Given the description of an element on the screen output the (x, y) to click on. 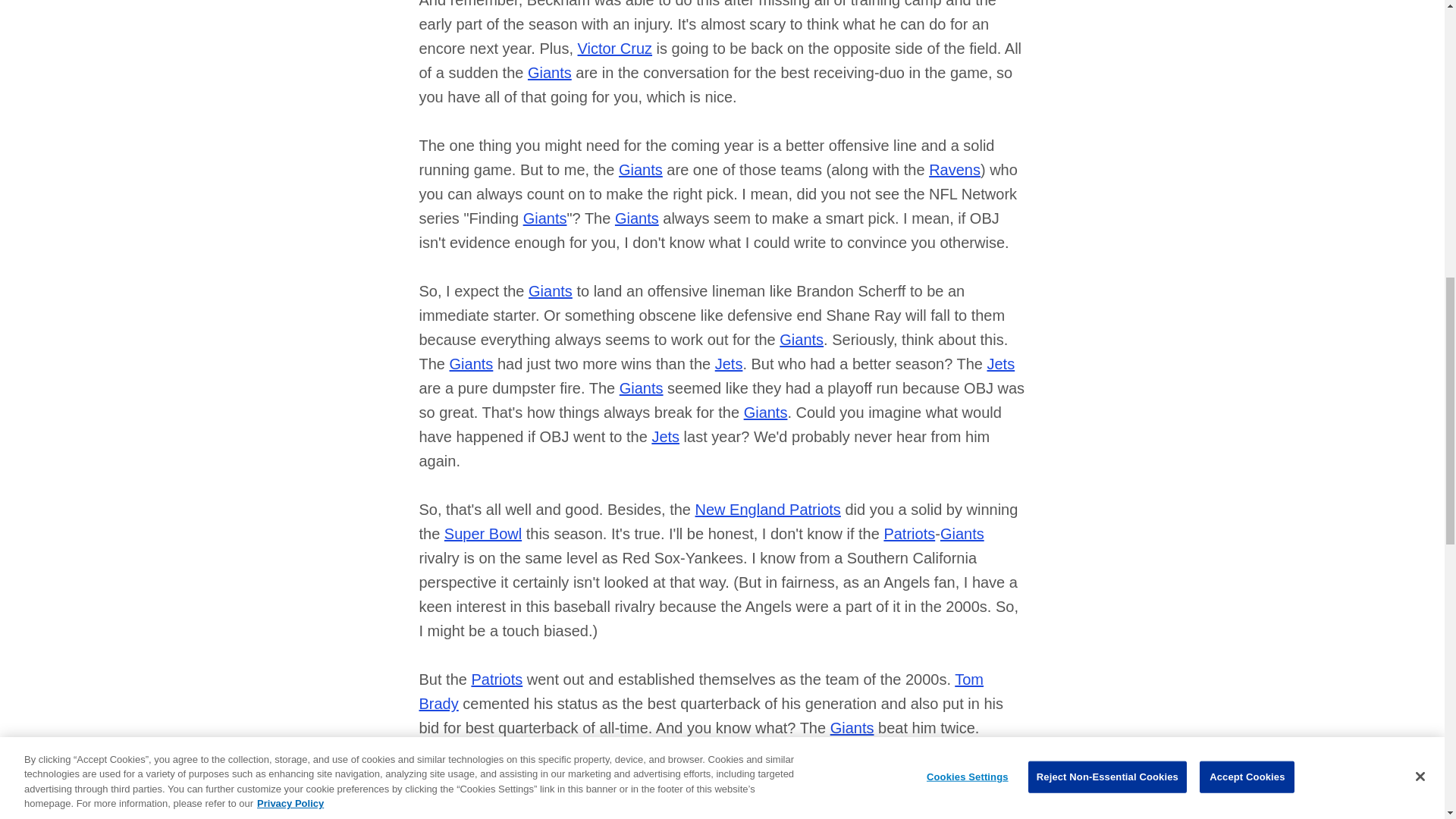
Super Bowl (482, 533)
Giants (544, 217)
Jets (664, 436)
Patriots (508, 817)
Giants (962, 533)
Giants (471, 363)
New England Patriots (768, 509)
Super Bowl (661, 751)
Ravens (953, 169)
Patriots (508, 776)
